Given the description of an element on the screen output the (x, y) to click on. 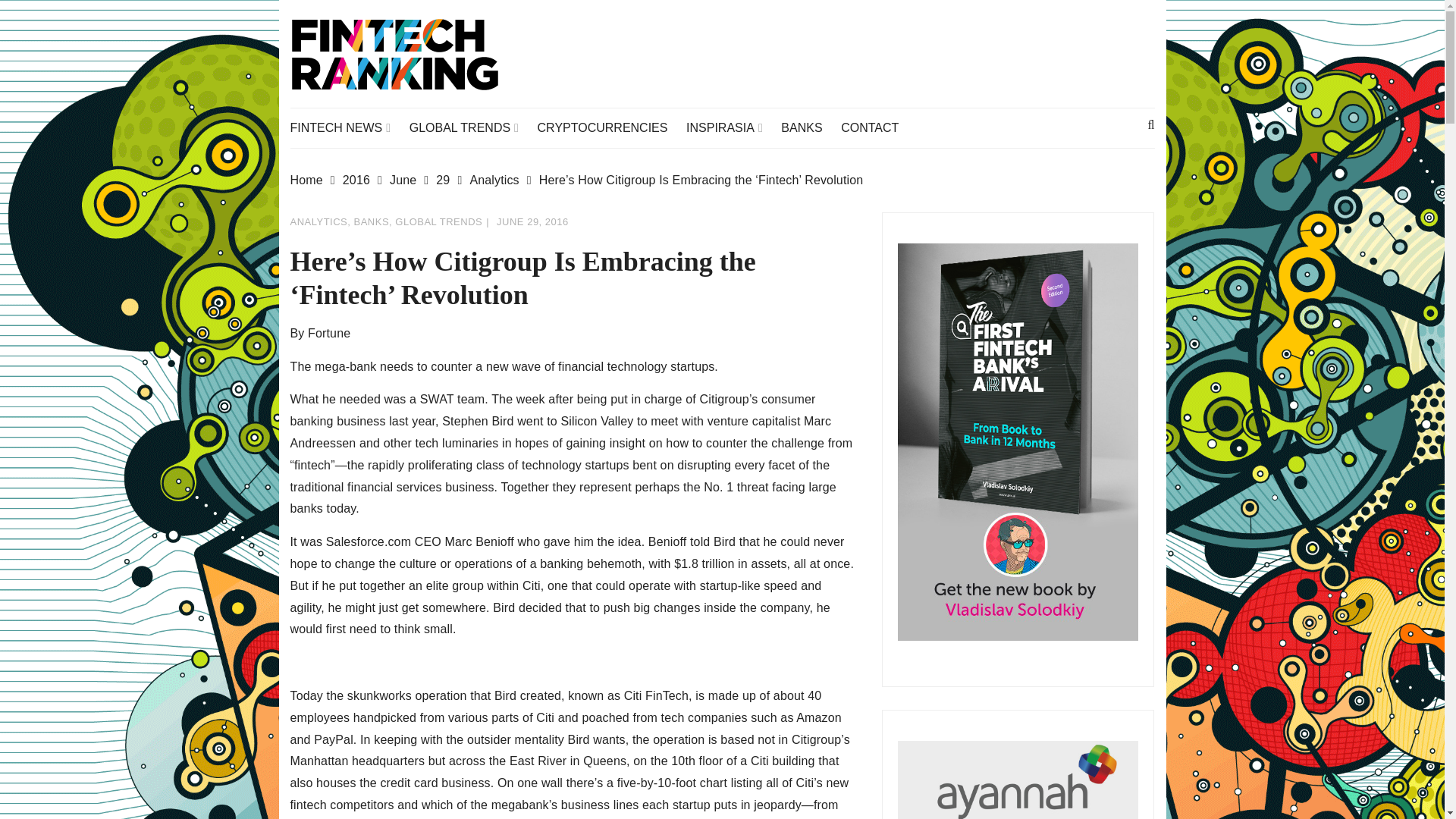
CONTACT (877, 128)
FINTECH NEWS (347, 128)
CRYPTOCURRENCIES (609, 128)
BANKS (808, 128)
GLOBAL TRENDS (471, 128)
INSPIRASIA (731, 128)
